Given the description of an element on the screen output the (x, y) to click on. 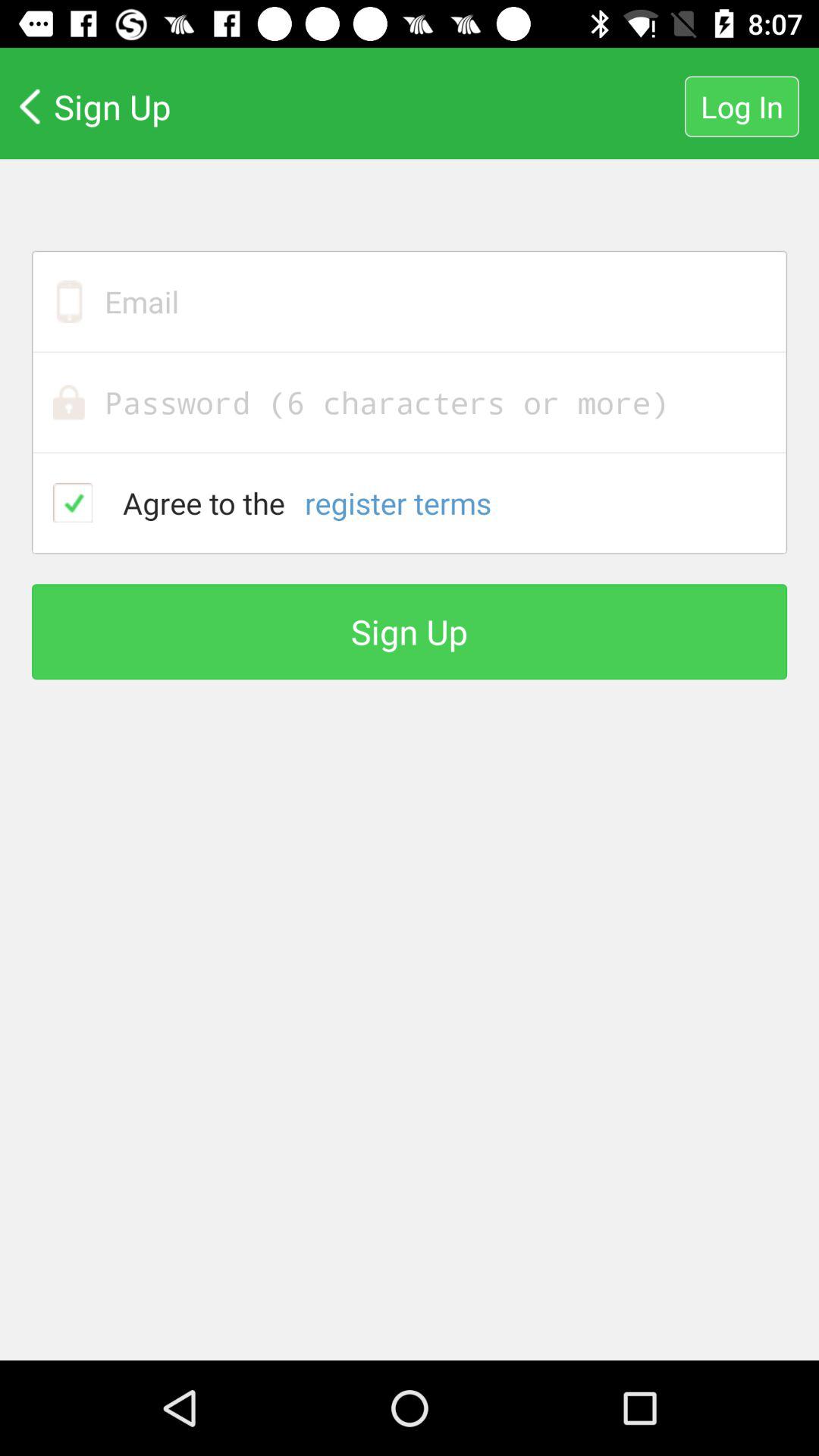
check agree to terms (72, 502)
